Given the description of an element on the screen output the (x, y) to click on. 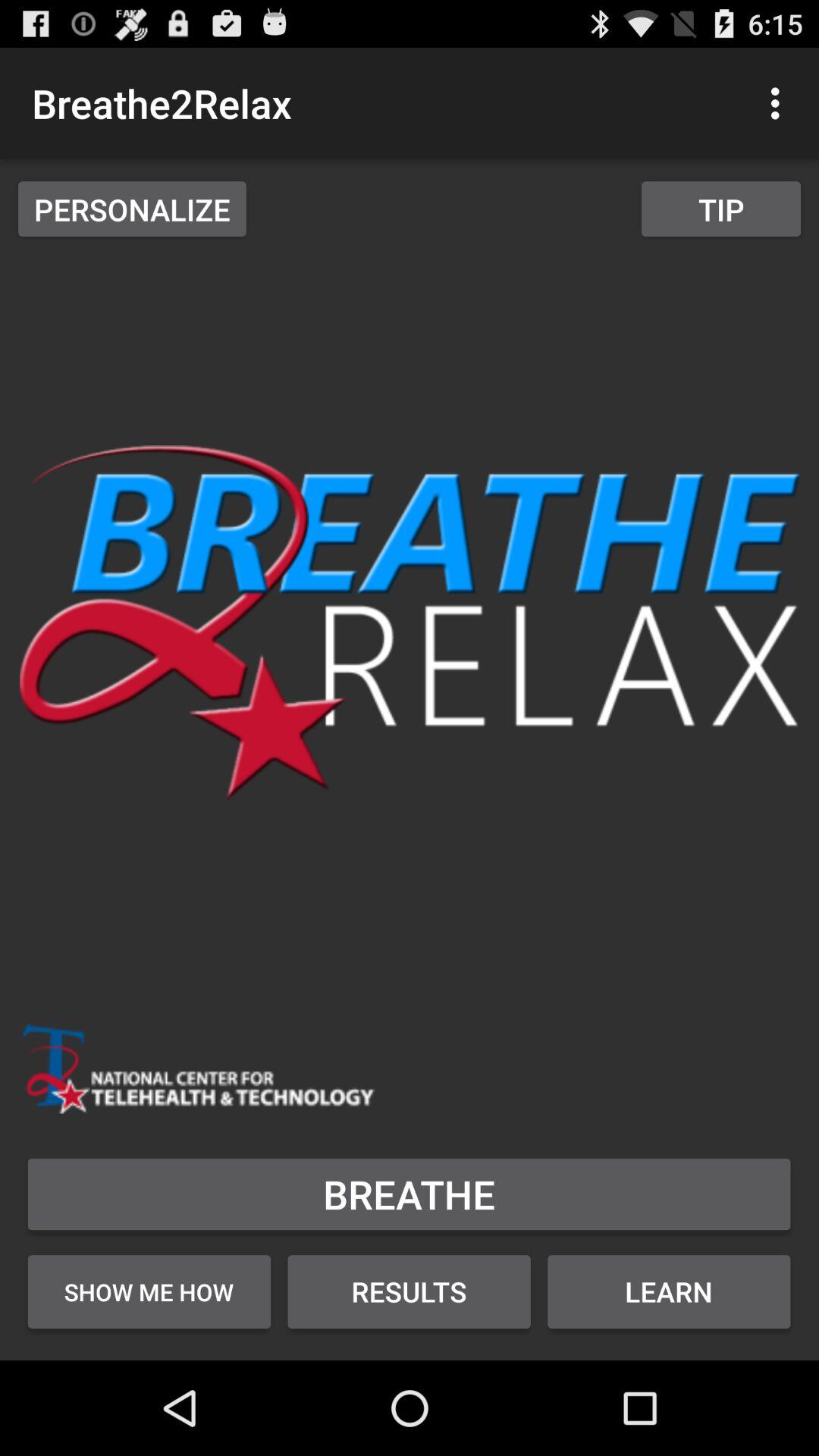
select the app below breathe2relax (132, 208)
